Given the description of an element on the screen output the (x, y) to click on. 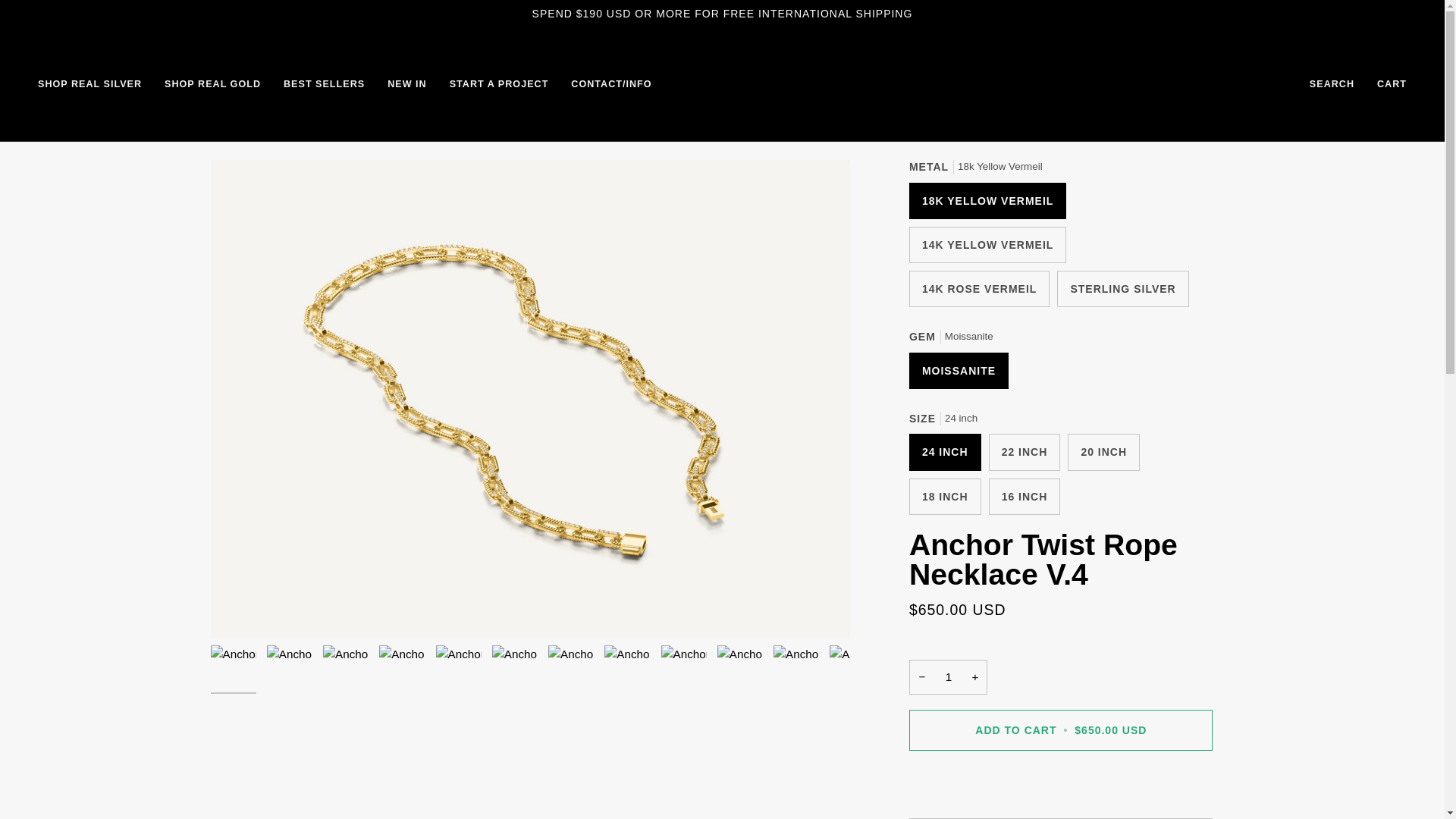
1 (947, 677)
SHOP REAL SILVER (94, 83)
START A PROJECT (499, 83)
SHOP REAL GOLD (212, 83)
BEST SELLERS (323, 83)
